Given the description of an element on the screen output the (x, y) to click on. 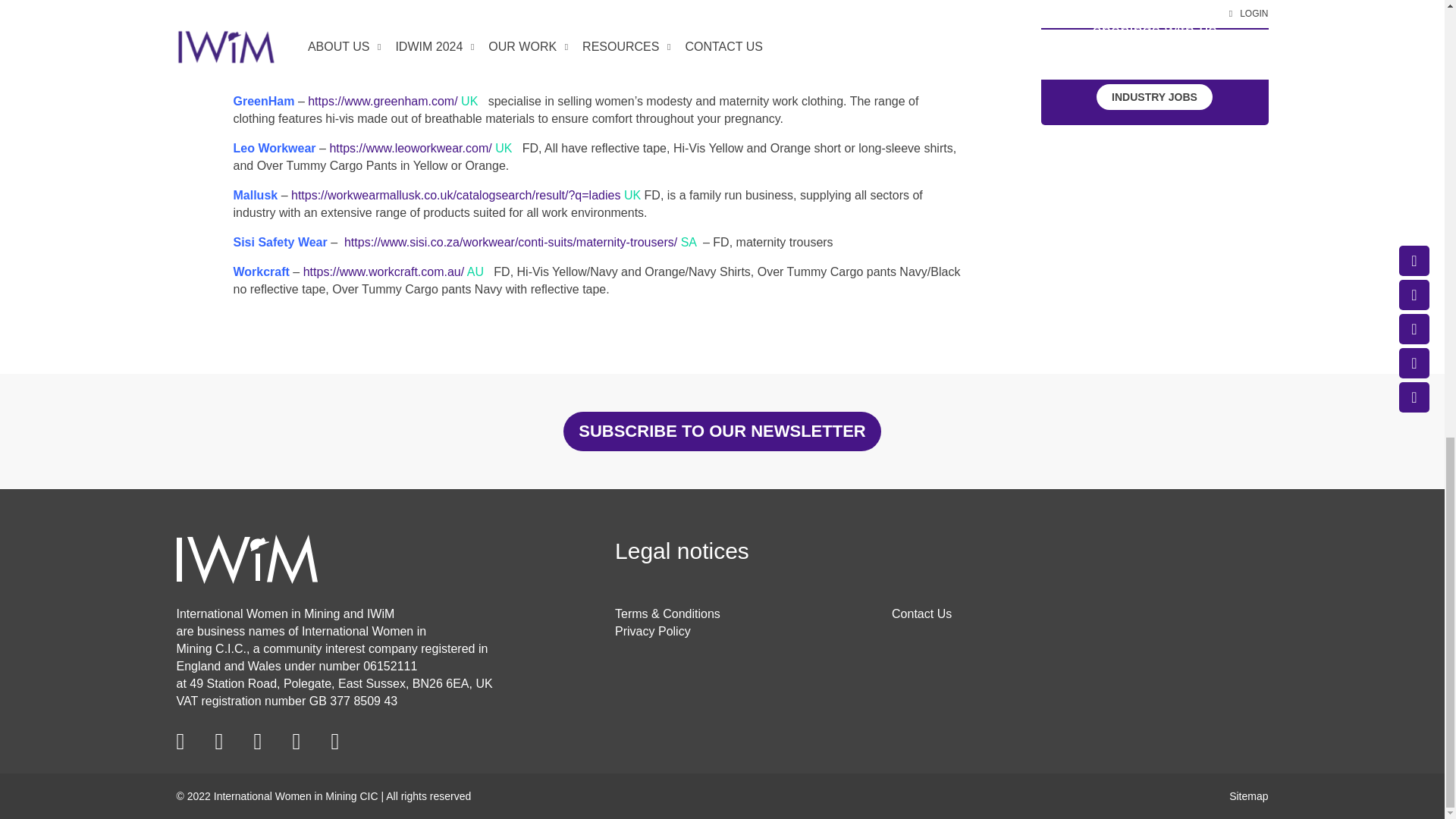
Industry Jobs (1154, 96)
Contact Us (921, 613)
Privacy Policy (652, 631)
